Given the description of an element on the screen output the (x, y) to click on. 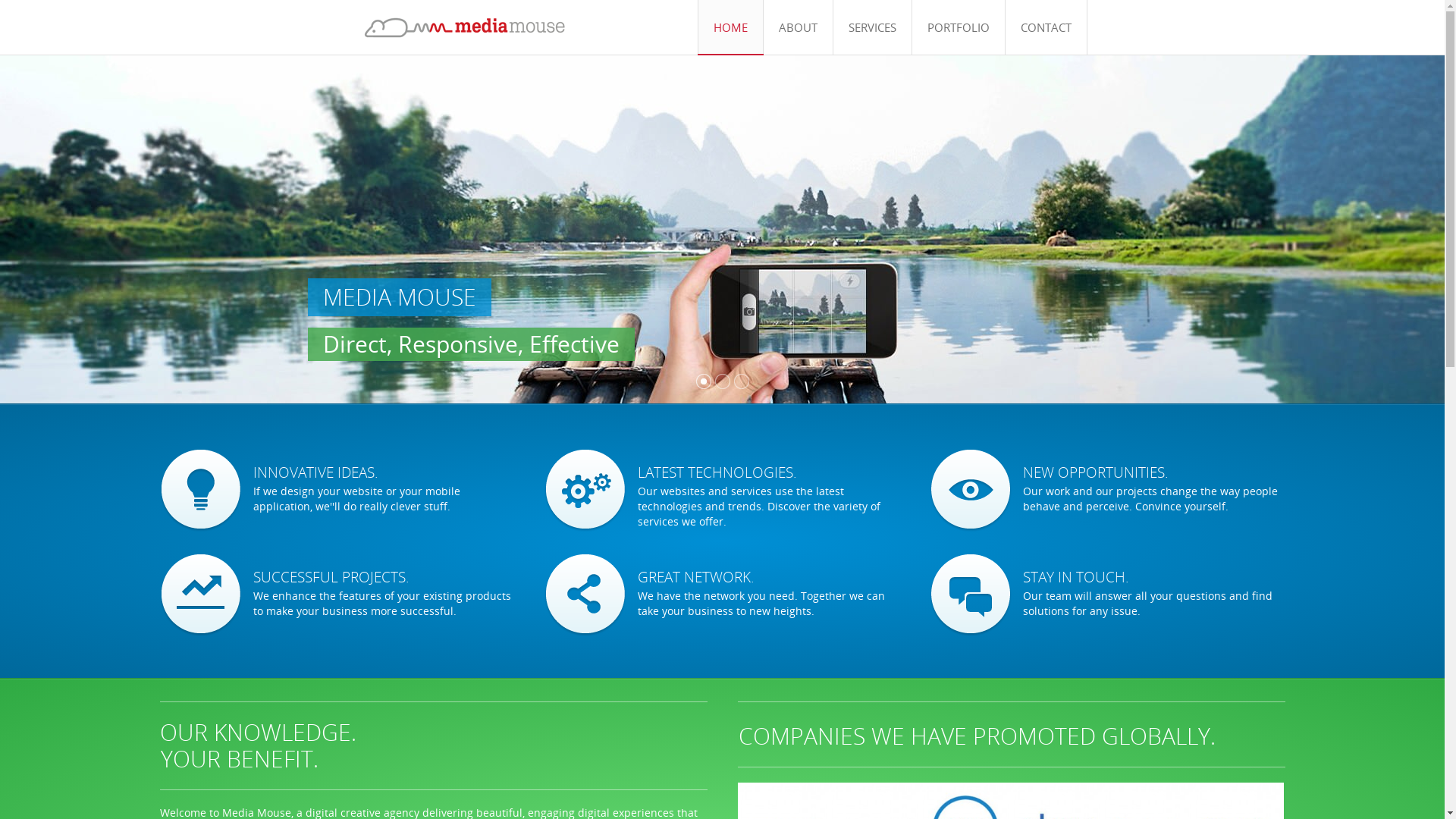
PORTFOLIO Element type: text (958, 27)
ABOUT Element type: text (797, 27)
WEB DESIGNERS ADELAIDE, ECOMMERCE WEB DESIGN ADELAIDE Element type: text (463, 27)
HOME Element type: text (730, 27)
CONTACT Element type: text (1045, 27)
